Given the description of an element on the screen output the (x, y) to click on. 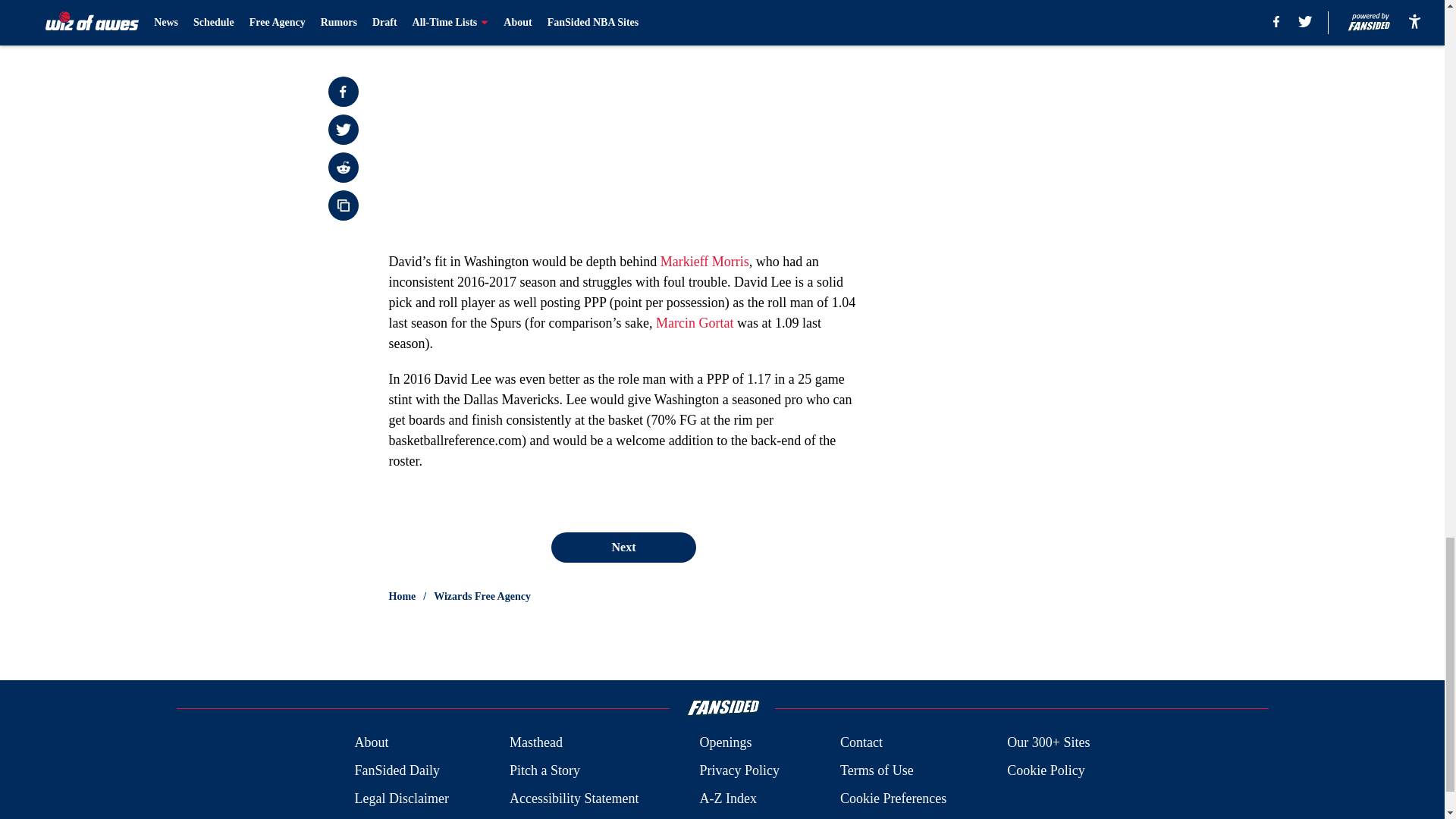
Home (401, 596)
Next (622, 547)
About (370, 742)
Markieff Morris (705, 261)
Wizards Free Agency (482, 596)
Marcin Gortat (694, 322)
